Given the description of an element on the screen output the (x, y) to click on. 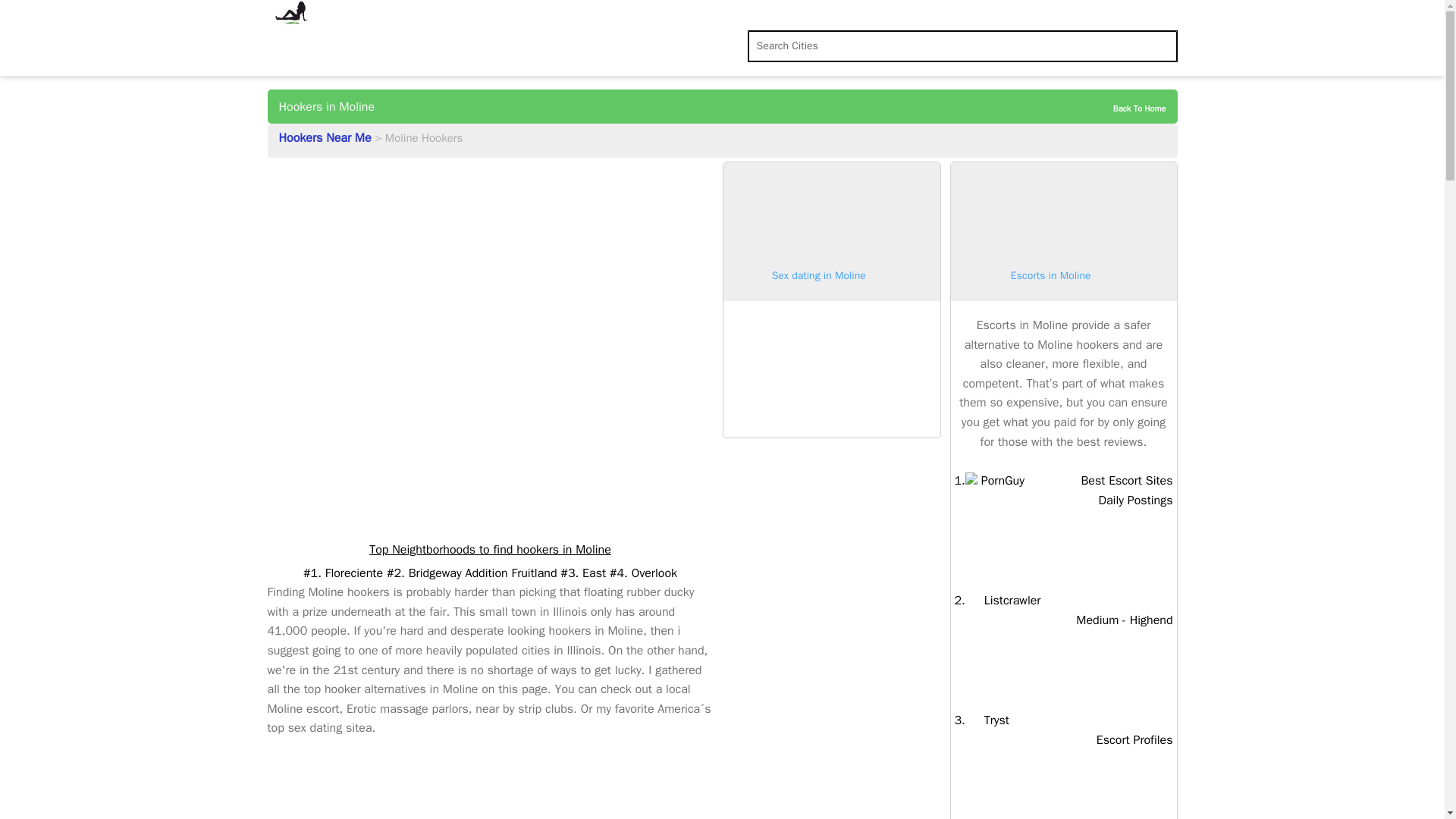
Back To Home (1126, 108)
Hookers Near Me  (327, 137)
Search (24, 14)
Moline, Illinois (1003, 600)
